Given the description of an element on the screen output the (x, y) to click on. 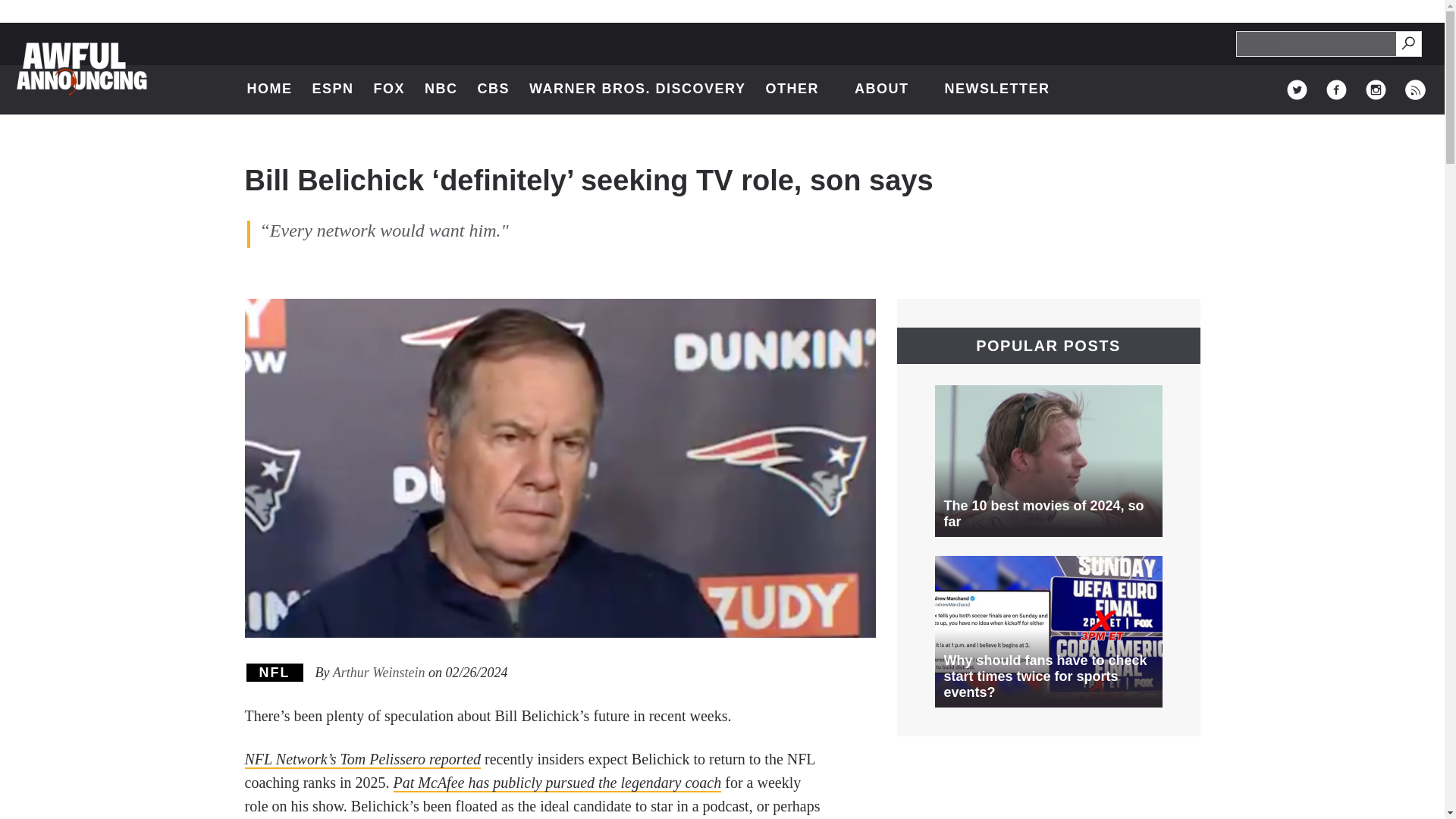
HOME (269, 89)
NEWSLETTER (996, 89)
SEARCH (1407, 42)
NBC (441, 89)
Link to Twitter (1296, 89)
OTHER (799, 89)
Link to RSS (1414, 89)
FOX (390, 89)
View all posts in NFL (274, 672)
ABOUT (1409, 43)
Link to Instagram (889, 89)
WARNER BROS. DISCOVERY (1375, 89)
CBS (636, 89)
Link to Facebook (493, 89)
